Given the description of an element on the screen output the (x, y) to click on. 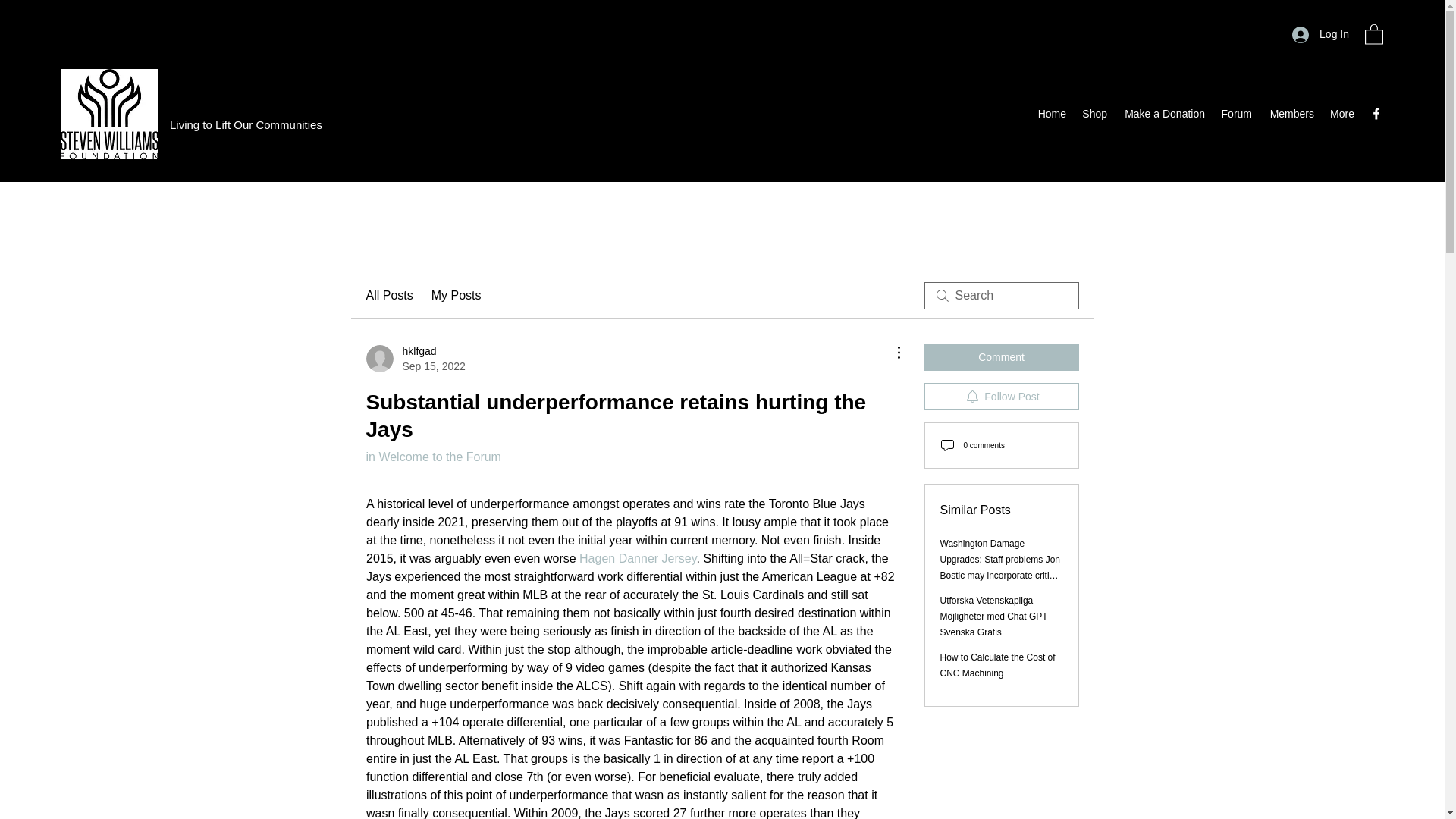
My Posts (455, 295)
Log In (1320, 34)
Home (1051, 113)
Shop (1094, 113)
Follow Post (1000, 396)
Make a Donation (1163, 113)
Comment (1000, 357)
Forum (1235, 113)
How to Calculate the Cost of CNC Machining (414, 358)
All Posts (997, 664)
Members (388, 295)
in Welcome to the Forum (1290, 113)
Hagen Danner Jersey (432, 456)
